Given the description of an element on the screen output the (x, y) to click on. 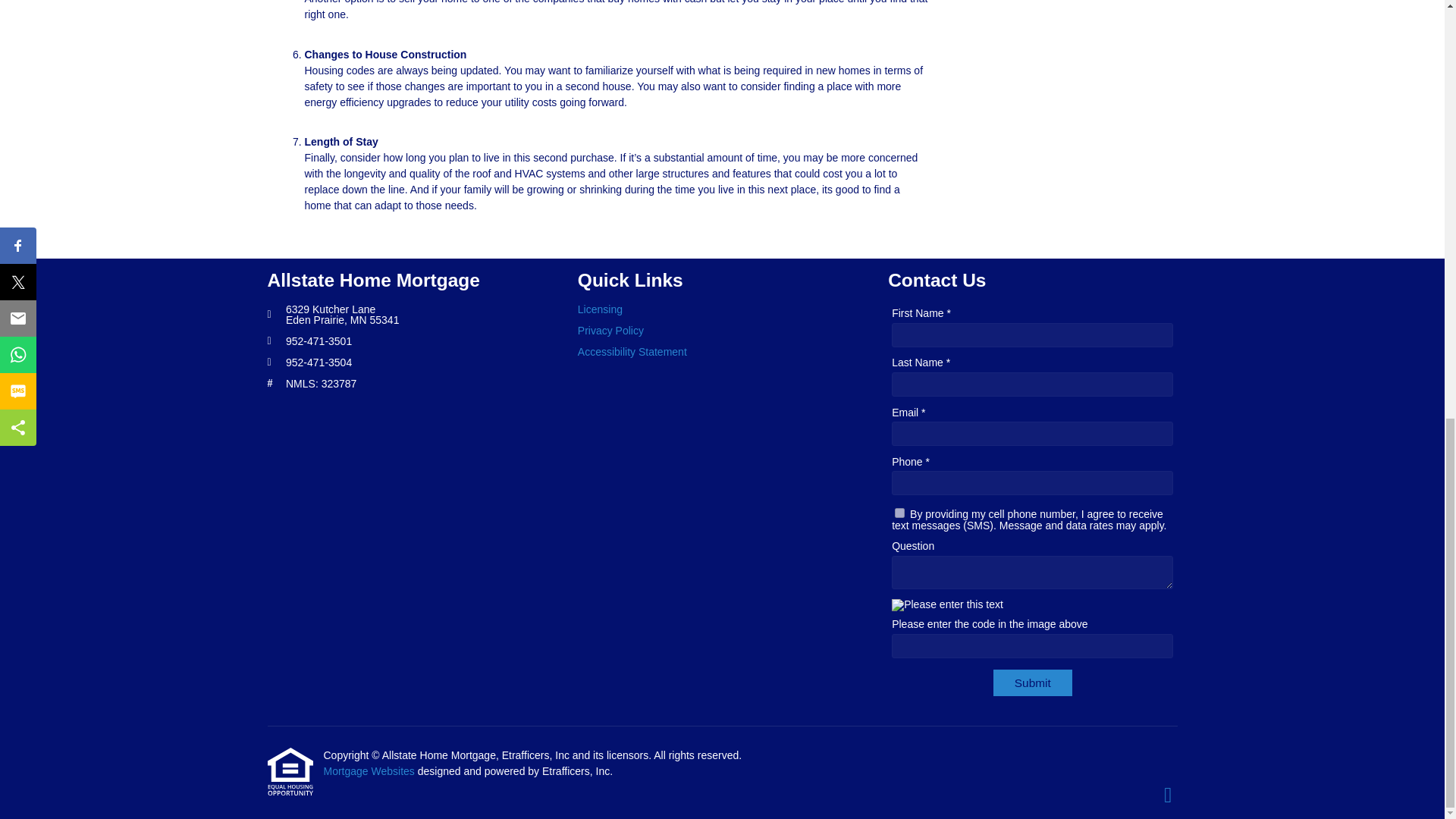
yes (899, 512)
